Given the description of an element on the screen output the (x, y) to click on. 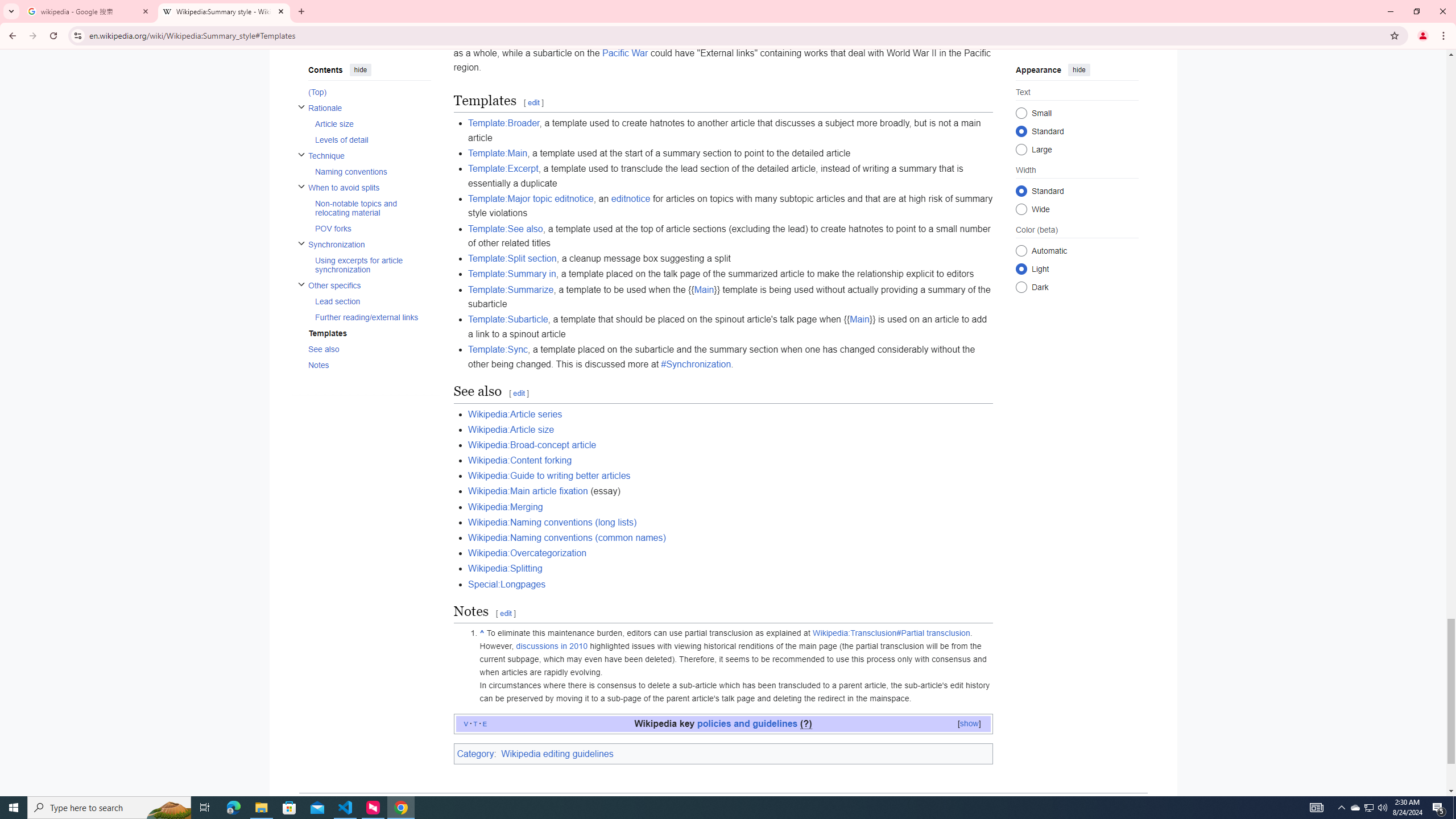
Wikipedia:Article size (510, 429)
AutomationID: toc-Synchronization (365, 256)
AutomationID: cite_note-1 (735, 665)
Wikipedia:Broad-concept article (531, 444)
[show] (969, 723)
Wide (1020, 208)
AutomationID: toc-Notes (365, 364)
Non-notable topics and relocating material (372, 207)
edit (505, 613)
Article size (372, 123)
Automatic (1020, 250)
